Given the description of an element on the screen output the (x, y) to click on. 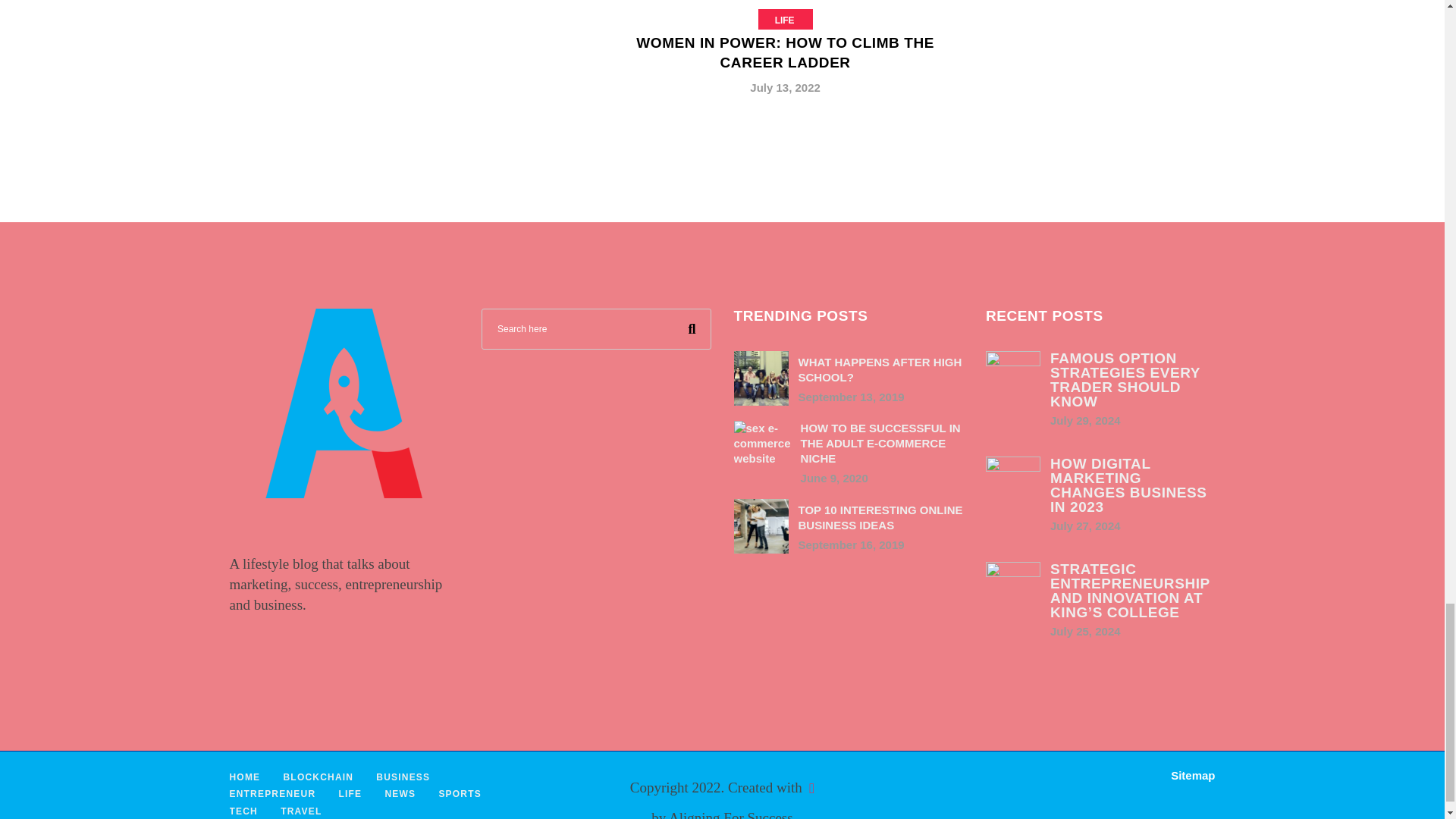
Women In Power: How To Climb The Career Ladder (784, 59)
Women In Power: How To Climb The Career Ladder (785, 52)
